Given the description of an element on the screen output the (x, y) to click on. 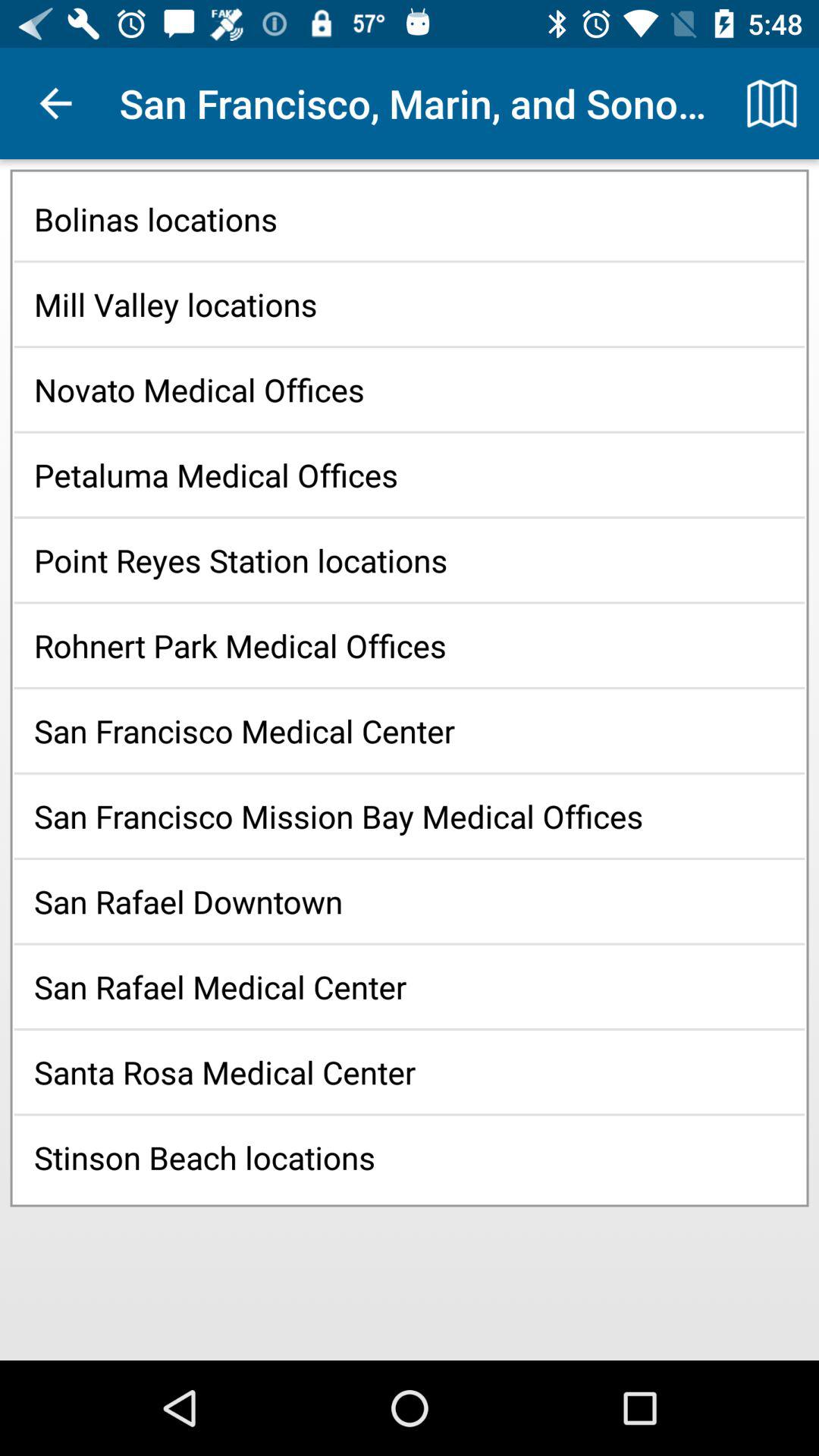
scroll to the mill valley locations item (409, 303)
